Given the description of an element on the screen output the (x, y) to click on. 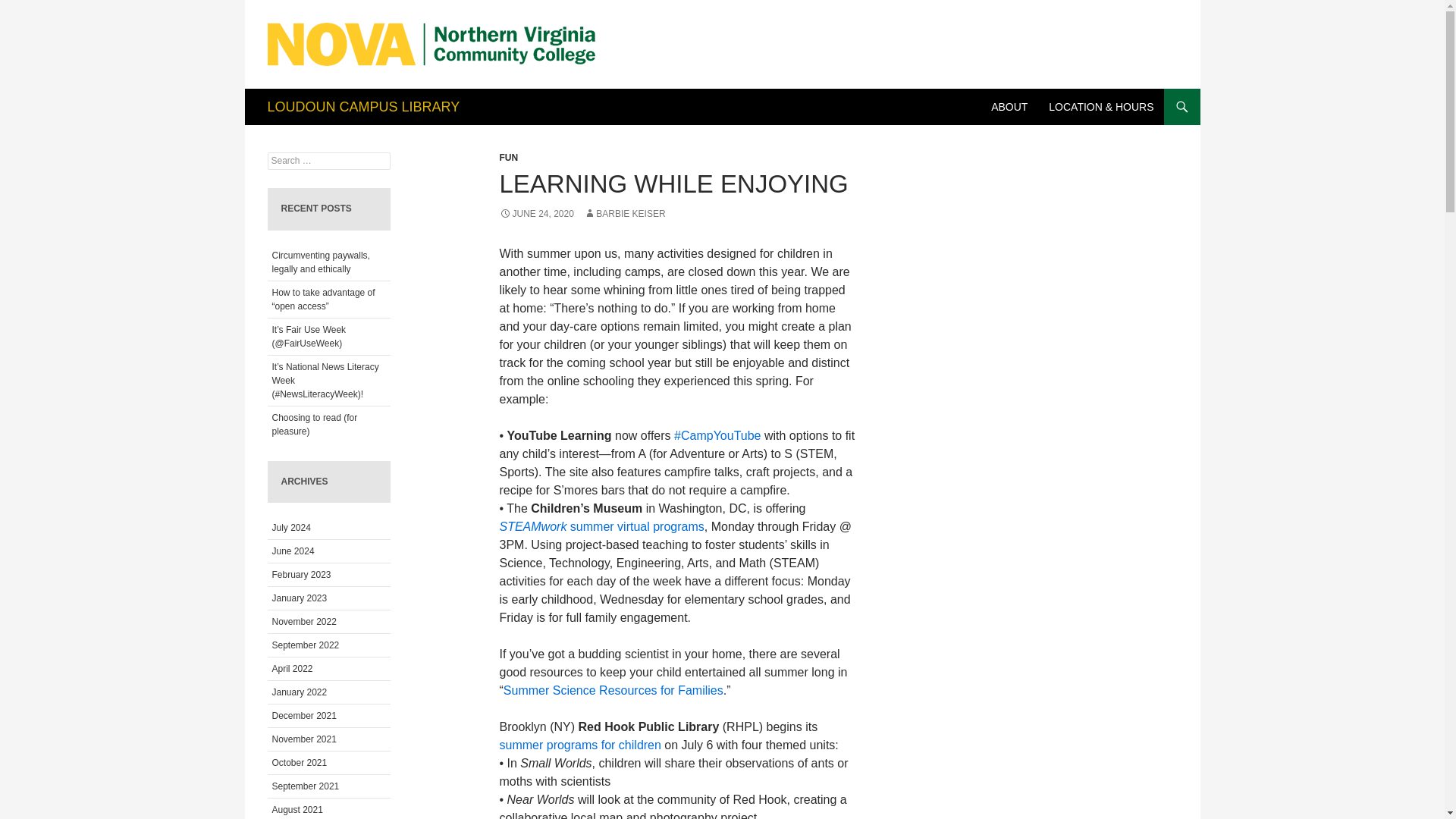
BARBIE KEISER (624, 213)
ABOUT (1008, 106)
FUN (508, 157)
STEAMwork summer virtual programs (601, 526)
Summer Science Resources for Families (613, 689)
JUNE 24, 2020 (536, 213)
LOUDOUN CAMPUS LIBRARY (363, 106)
summer programs for children (580, 744)
